Given the description of an element on the screen output the (x, y) to click on. 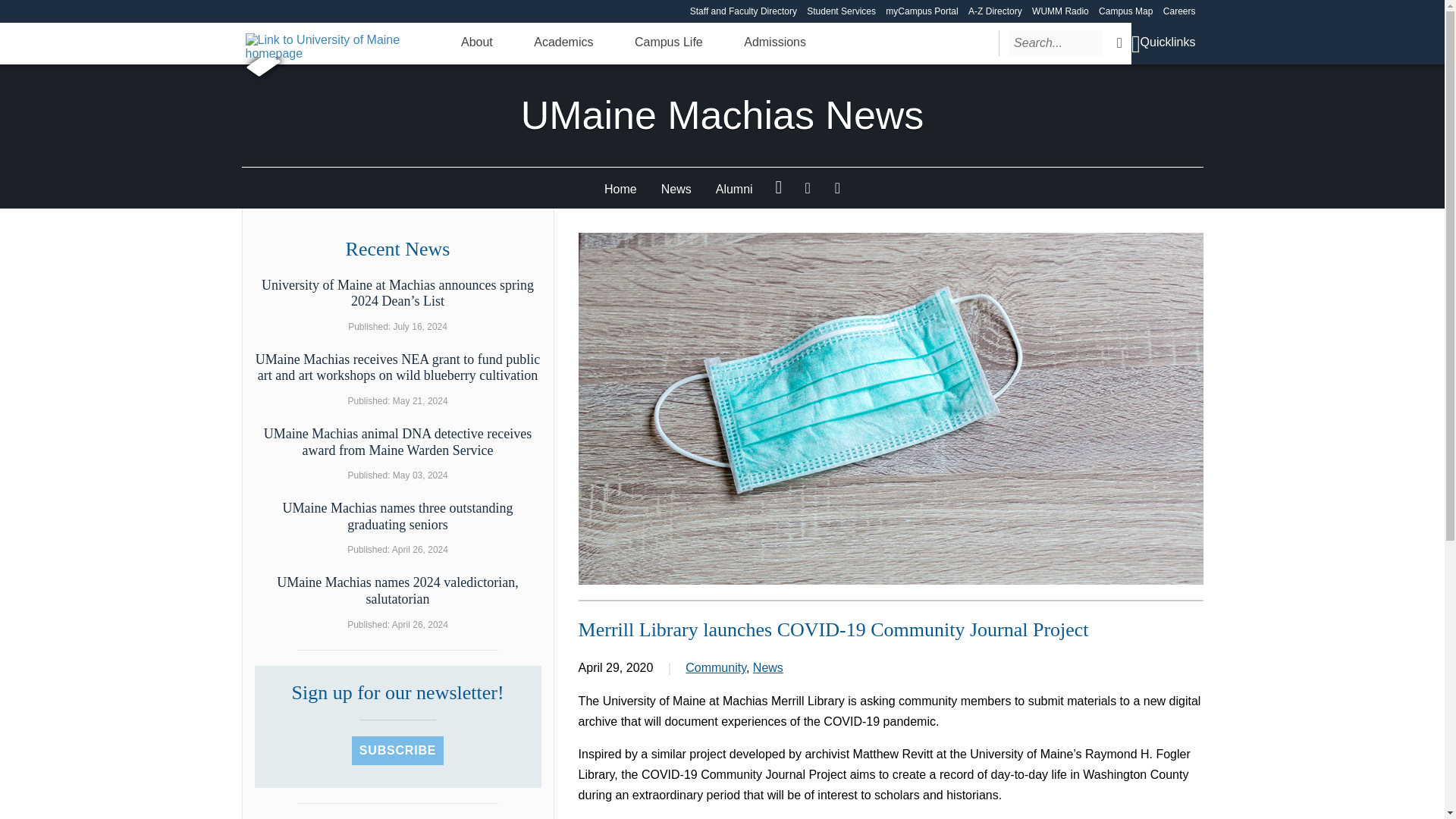
myCampus Portal (921, 10)
Campus Map (1126, 10)
A-Z Directory (995, 10)
Academics (563, 42)
Student Services (841, 10)
Careers (1179, 10)
WUMM Radio (1060, 10)
Search (1119, 42)
About (477, 42)
Search for: (1055, 43)
Staff and Faculty Directory (743, 10)
